Given the description of an element on the screen output the (x, y) to click on. 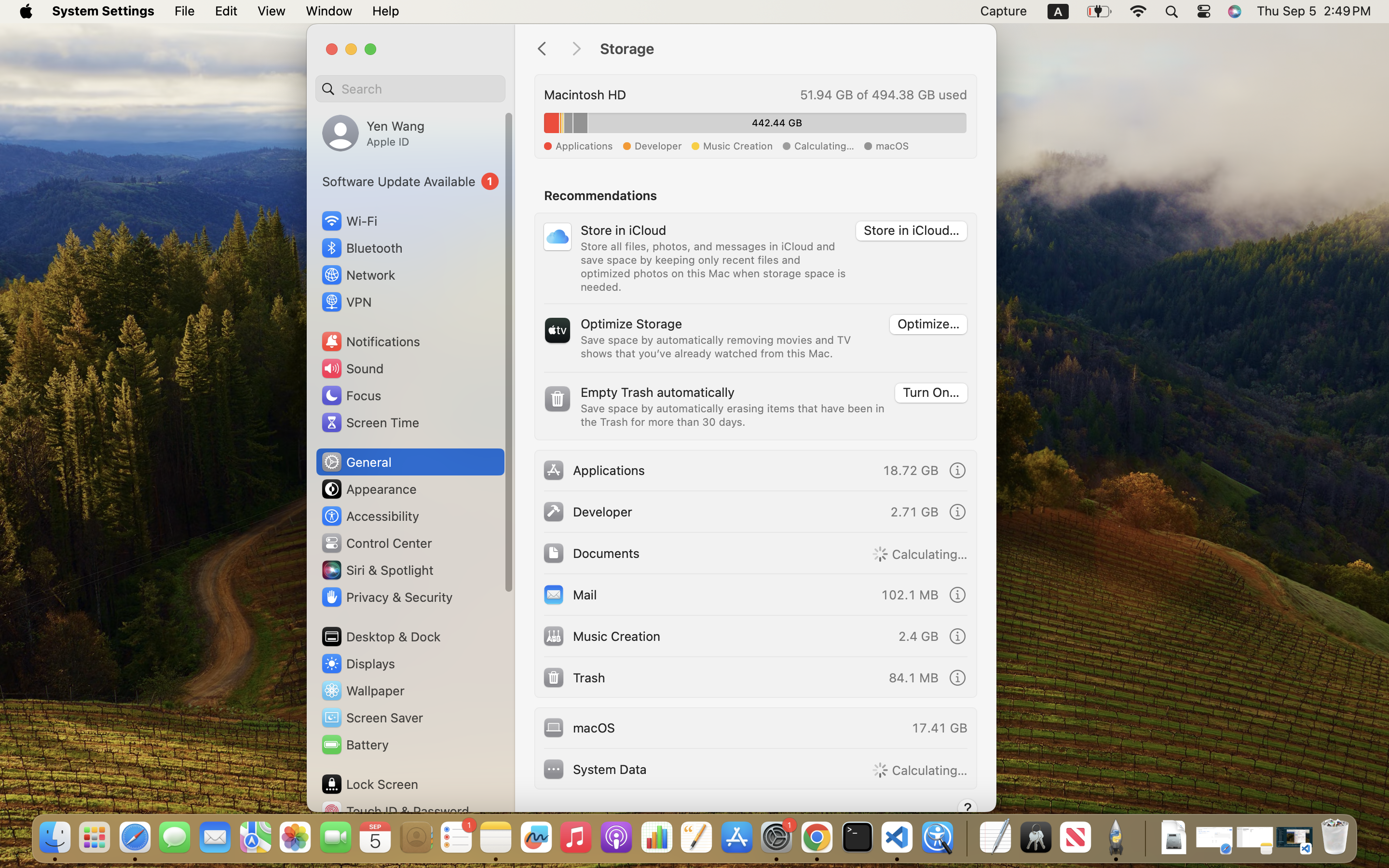
0.4285714328289032 Element type: AXDockItem (965, 837)
Touch ID & Password Element type: AXStaticText (394, 810)
Desktop & Dock Element type: AXStaticText (380, 636)
